Given the description of an element on the screen output the (x, y) to click on. 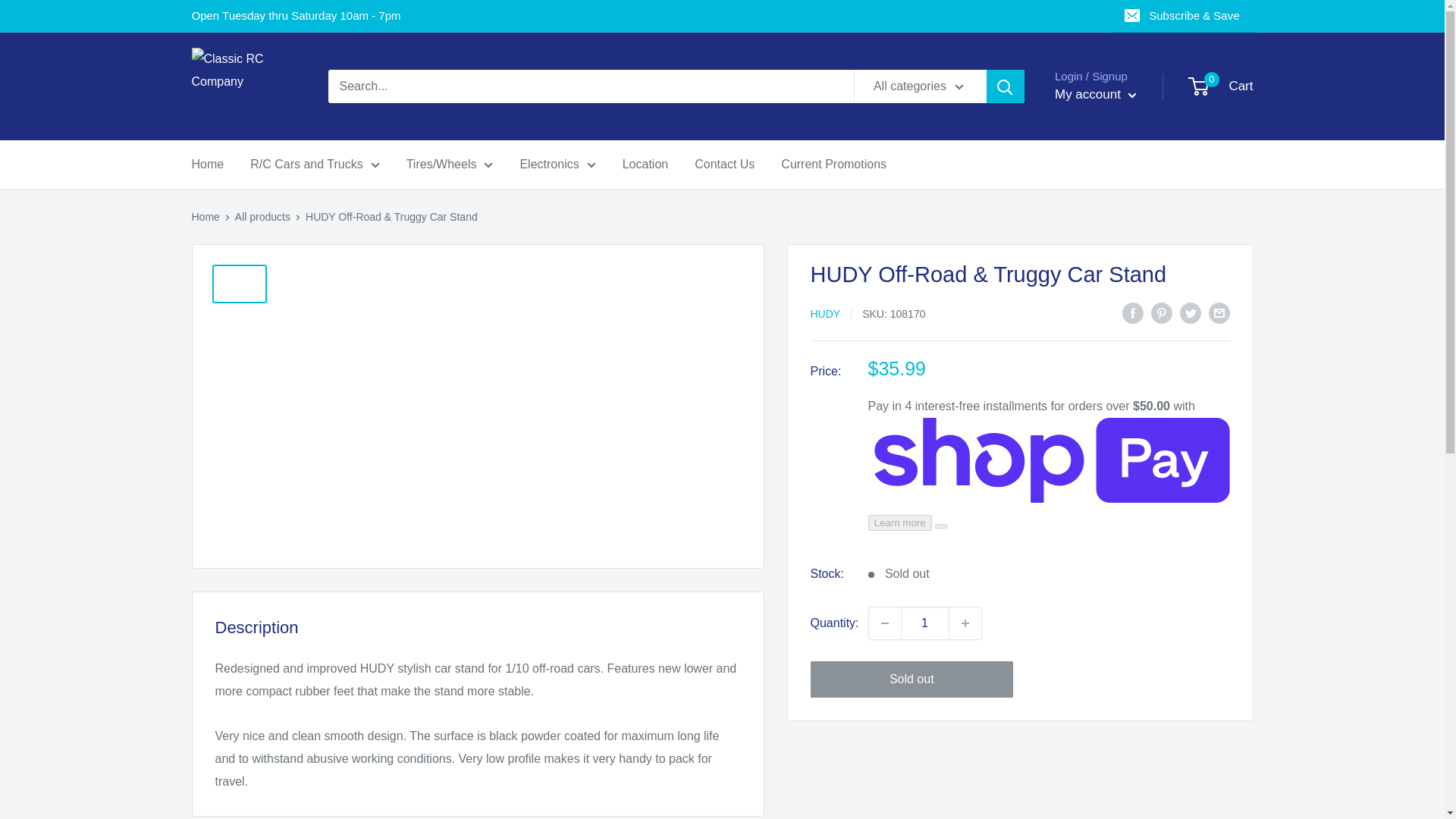
1 (925, 623)
Decrease quantity by 1 (885, 623)
Increase quantity by 1 (965, 623)
